Given the description of an element on the screen output the (x, y) to click on. 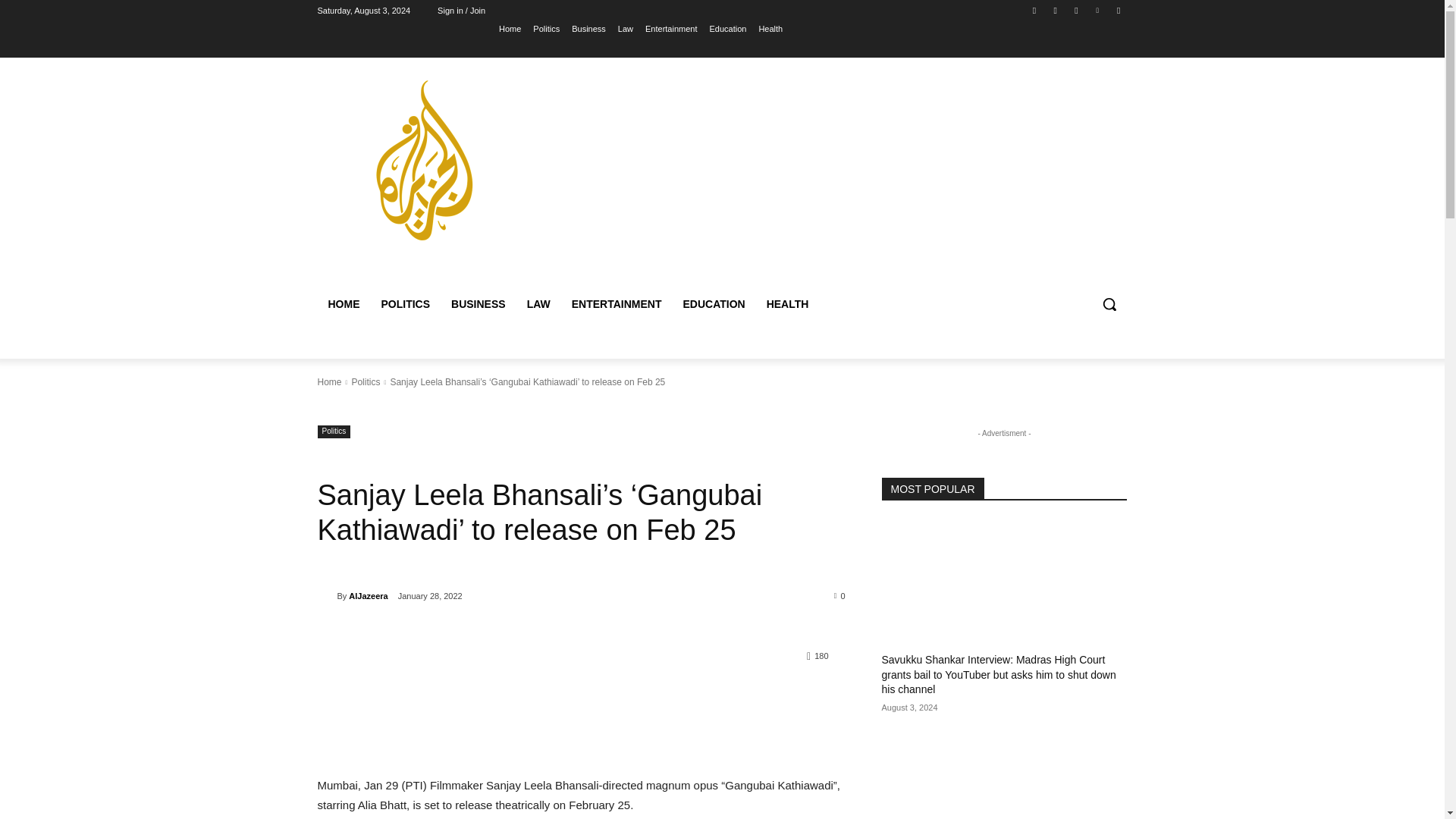
Home (328, 381)
LAW (538, 303)
Politics (365, 381)
Youtube (1117, 9)
Facebook (1034, 9)
0 (839, 594)
Twitter (1075, 9)
View all posts in Politics (365, 381)
Entertainment (671, 28)
Business (588, 28)
